Given the description of an element on the screen output the (x, y) to click on. 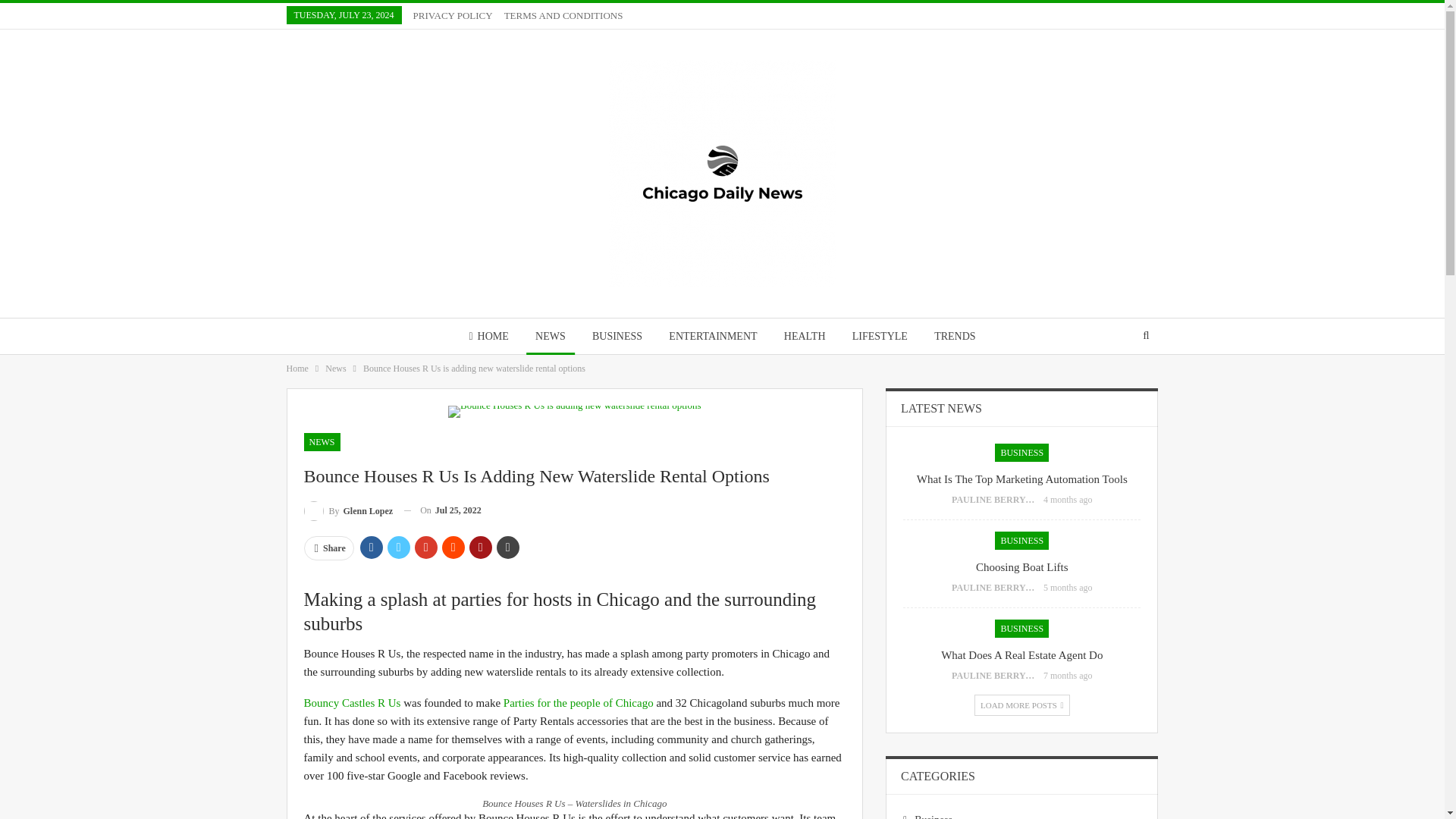
ENTERTAINMENT (712, 335)
HOME (488, 335)
Browse Author Articles (997, 587)
PRIVACY POLICY (453, 15)
NEWS (550, 335)
LIFESTYLE (880, 335)
TRENDS (954, 335)
TERMS AND CONDITIONS (563, 15)
News (335, 368)
HEALTH (804, 335)
Parties for the people of Chicago (578, 702)
By Glenn Lopez (347, 510)
Browse Author Articles (997, 499)
Browse Author Articles (347, 510)
Home (297, 368)
